Given the description of an element on the screen output the (x, y) to click on. 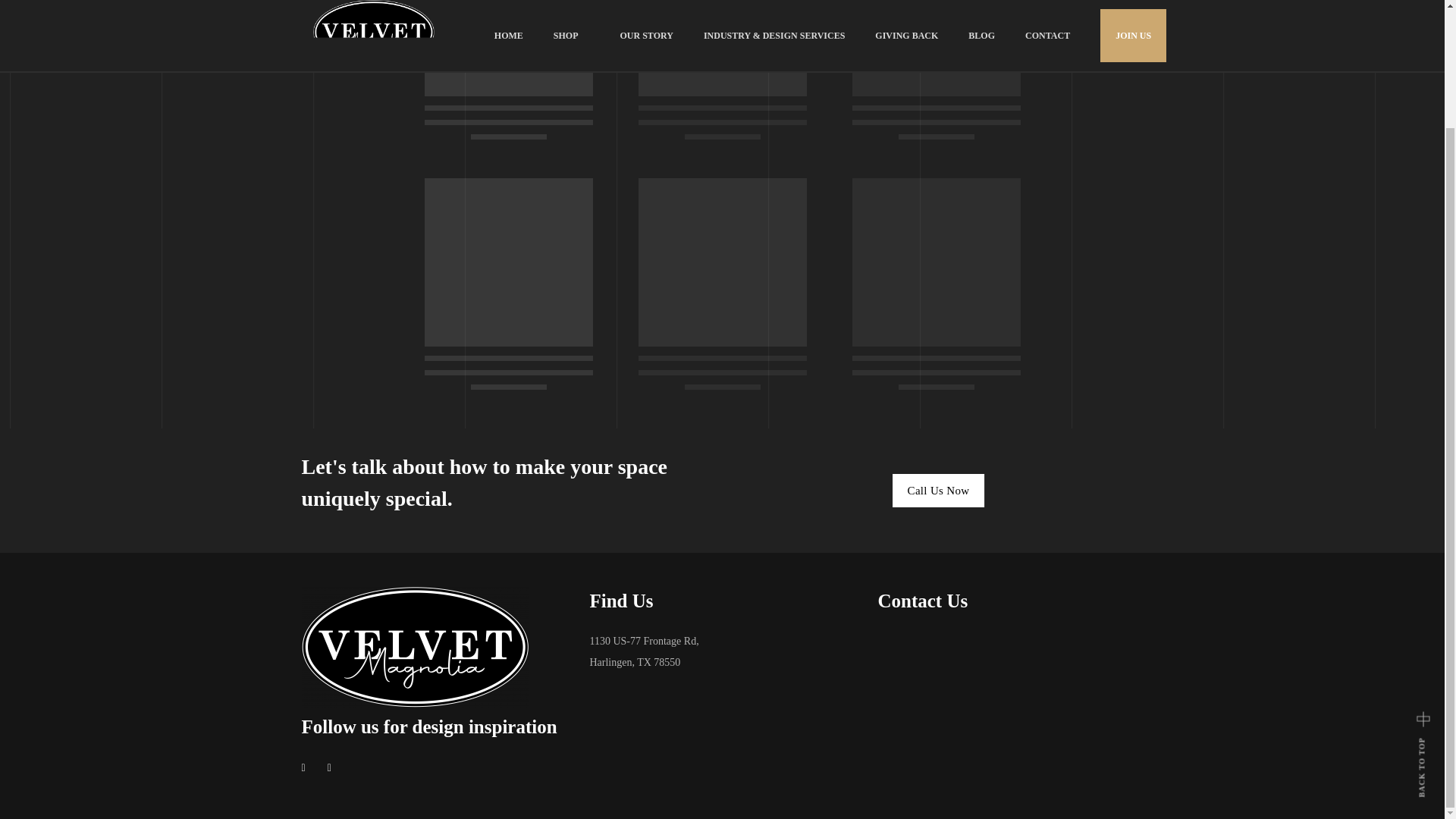
Facebook (307, 767)
Instagram (333, 767)
